Given the description of an element on the screen output the (x, y) to click on. 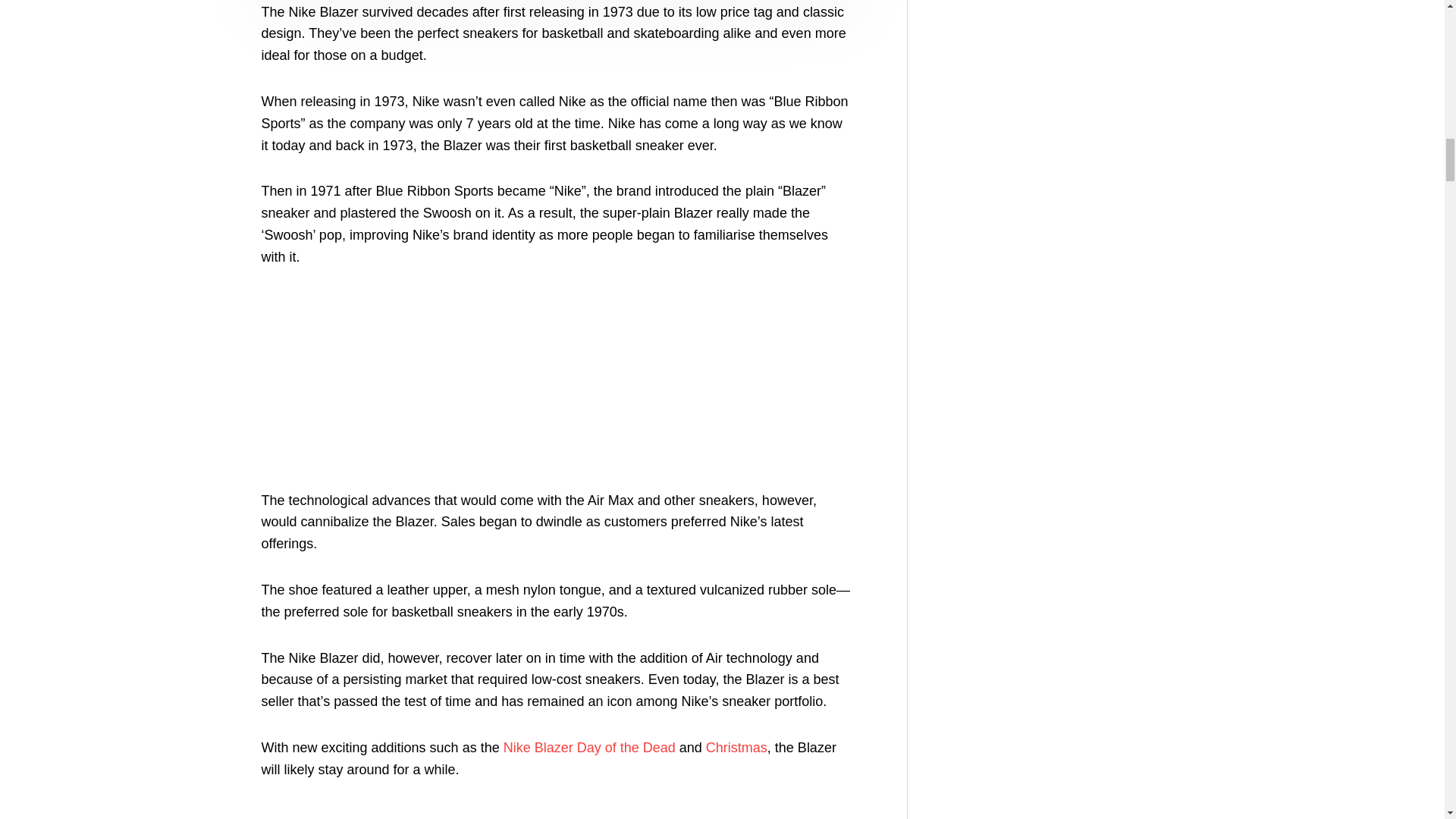
Nike Blazer Mid 77 Christmas - Release Date and Resale Guide (736, 747)
